Given the description of an element on the screen output the (x, y) to click on. 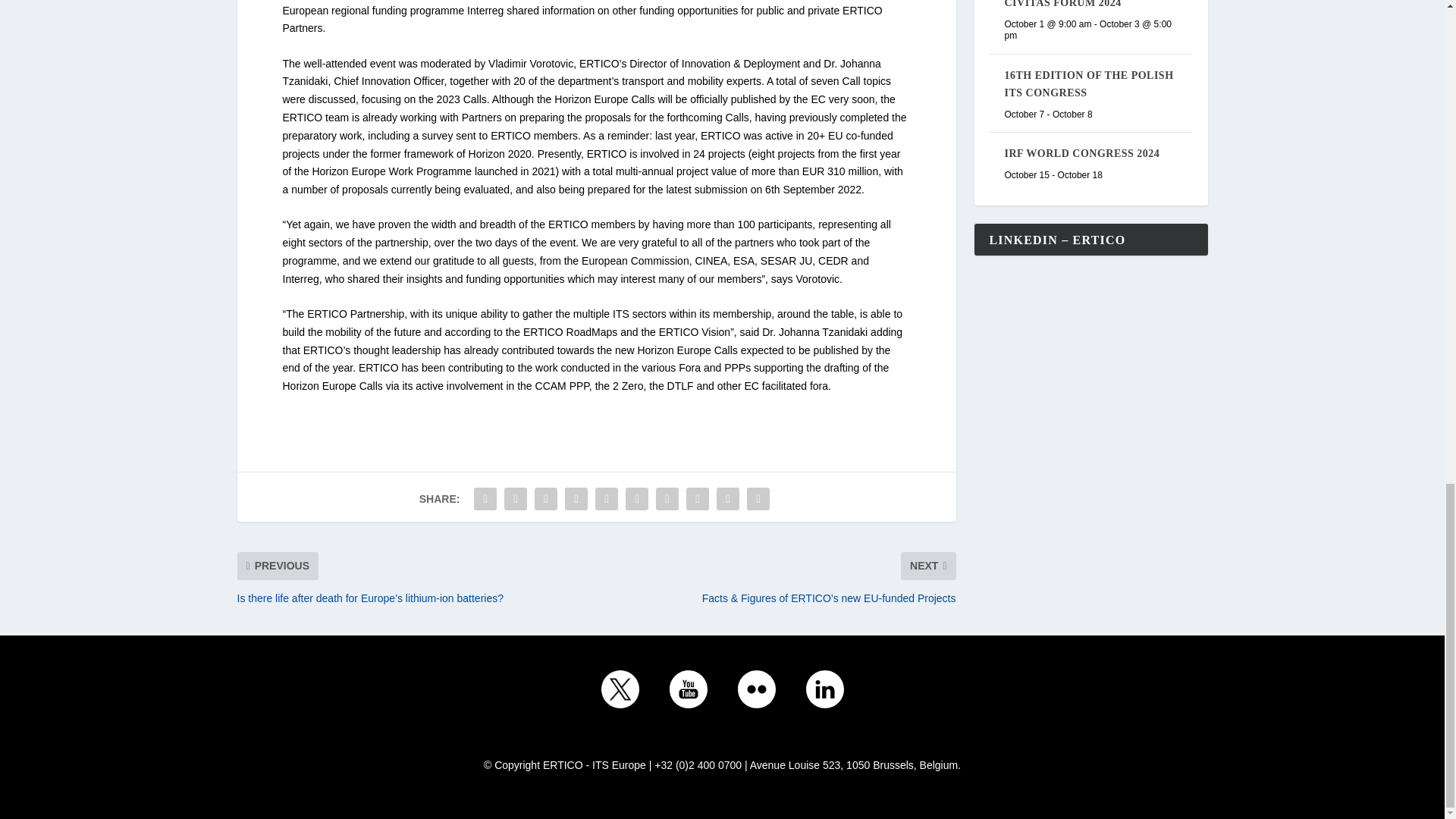
IRF WORLD CONGRESS 2024 (1081, 153)
CIVITAS FORUM 2024 (1062, 4)
16TH EDITION OF THE POLISH ITS CONGRESS (1088, 83)
